Given the description of an element on the screen output the (x, y) to click on. 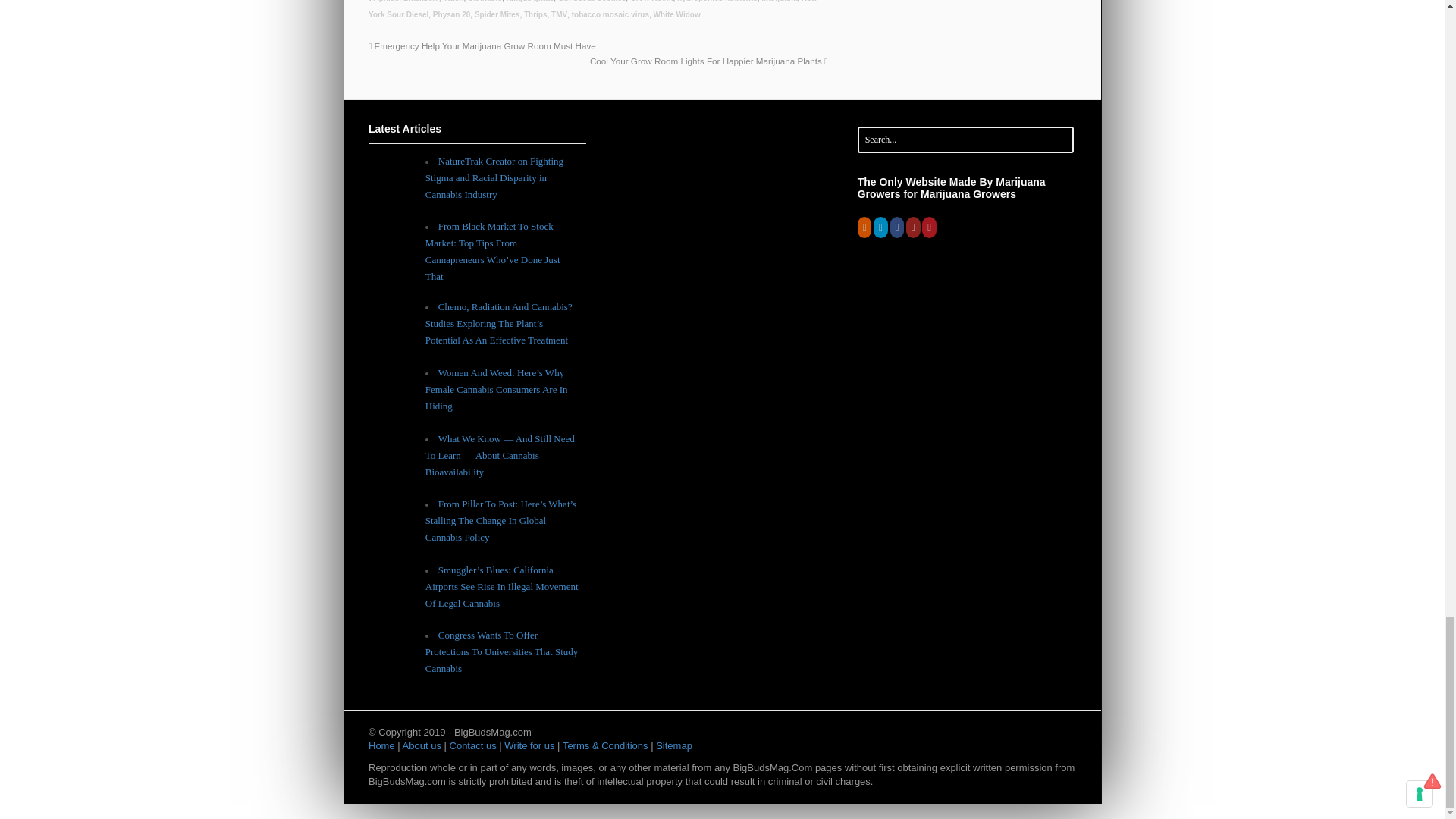
Cannabis (484, 1)
Search... (955, 139)
Blackberry Kush (433, 1)
fungus gnats (530, 1)
Girl Scout Cookies (591, 1)
Aphids (385, 1)
